Given the description of an element on the screen output the (x, y) to click on. 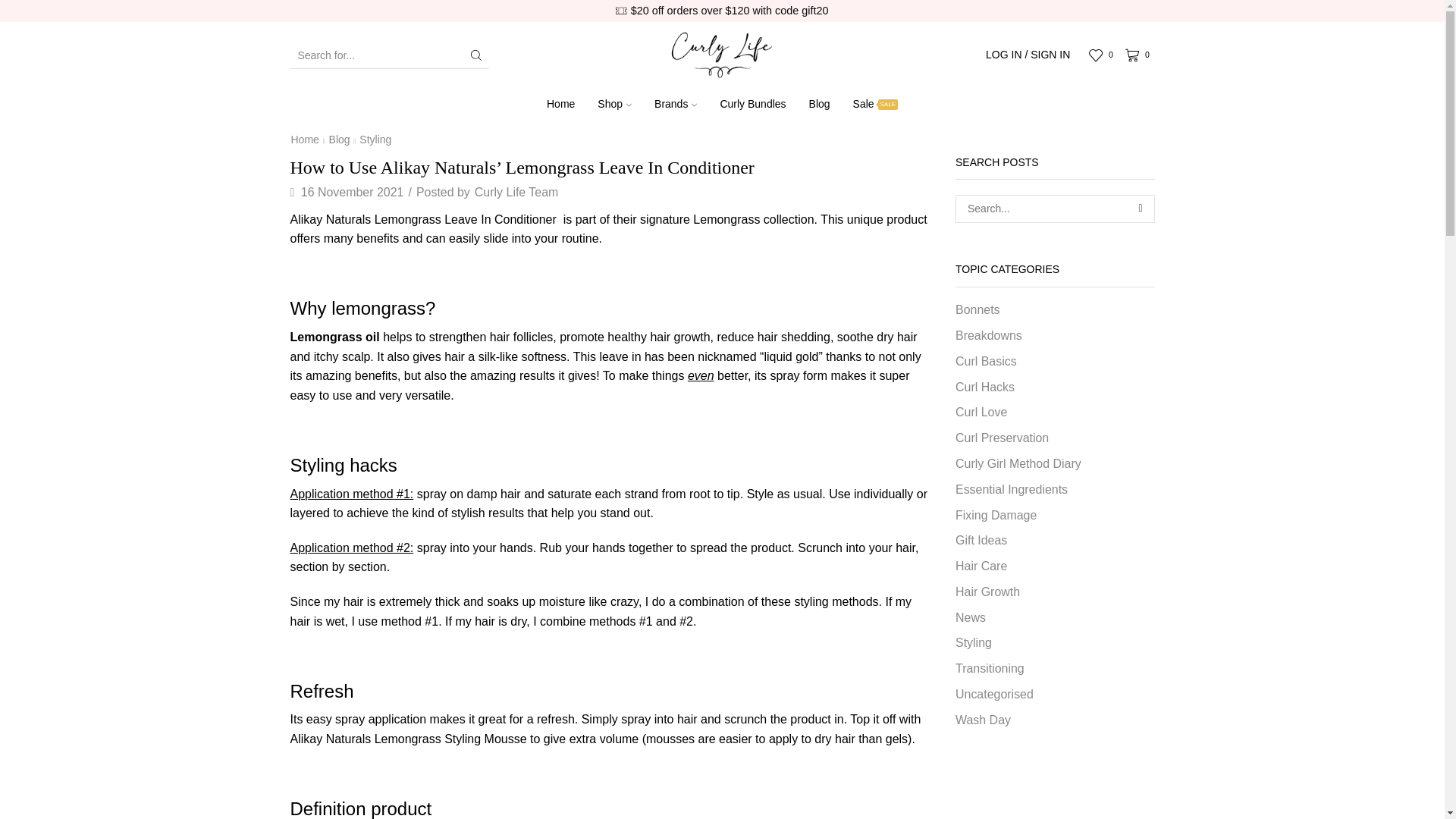
Home (560, 104)
Shop (614, 104)
0 (1139, 55)
0 (1103, 55)
Log in (955, 266)
Posts by Curly Life Team (516, 192)
